Given the description of an element on the screen output the (x, y) to click on. 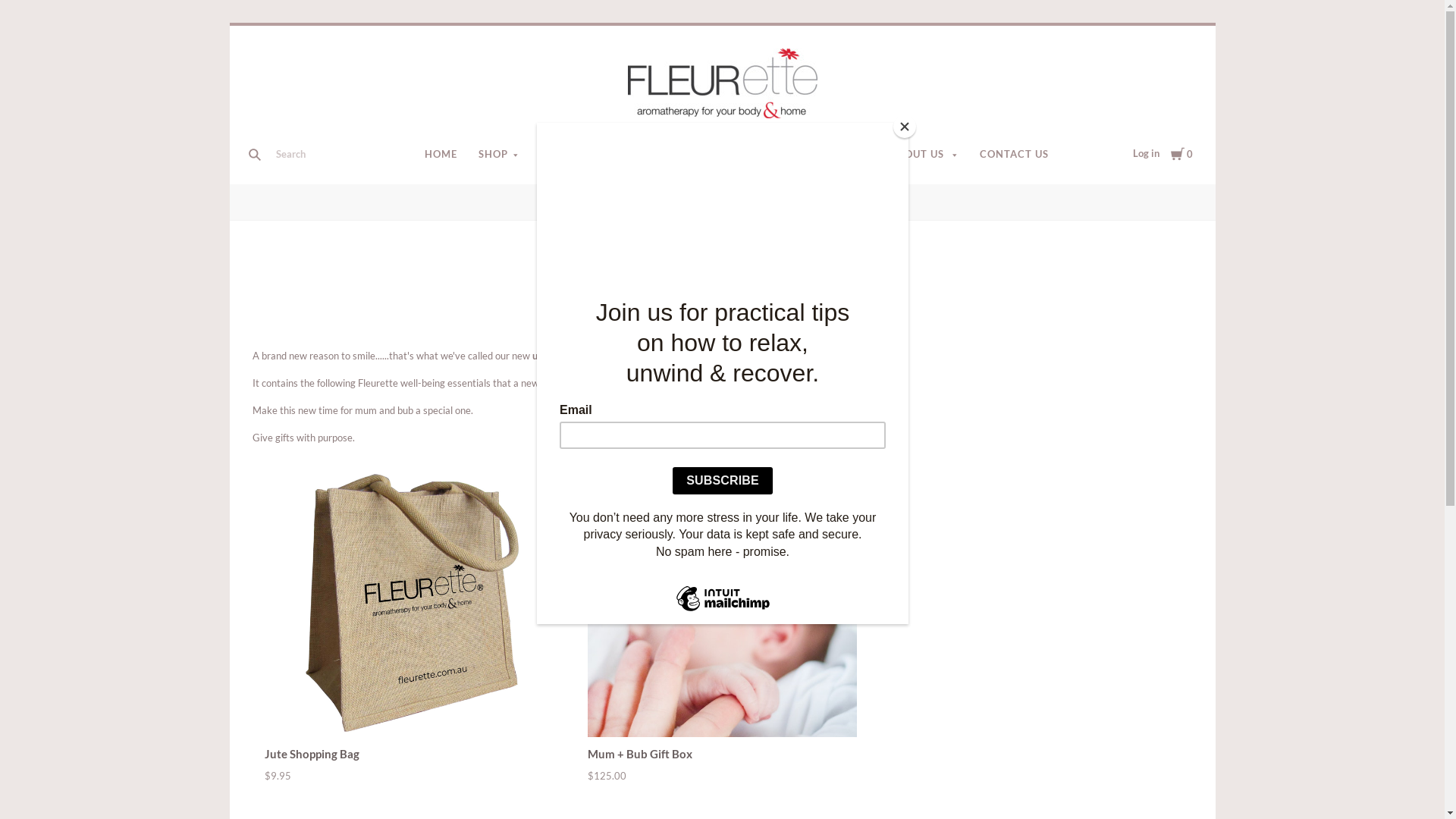
CONTACT US Element type: text (1014, 154)
ABOUT US Element type: text (924, 154)
SHOP Element type: text (498, 154)
Mum + Bub Gift Box Element type: text (639, 753)
Jute Shopping Bag Element type: text (310, 753)
STOCKISTS Element type: text (703, 154)
Mum + Bub Gift Box  Element type: hover (721, 602)
New Baby Element type: text (804, 202)
Jute Shopping Bag Element type: hover (398, 602)
BLOG Element type: text (854, 154)
CORPORATE GIFTING Element type: text (597, 154)
Cart
0 Element type: text (1181, 153)
GIFT BOX COLLECTION Element type: text (715, 202)
Home Element type: text (631, 202)
Log in Element type: text (1145, 152)
WHOLESALE Element type: text (786, 154)
HOME Element type: text (440, 154)
